Given the description of an element on the screen output the (x, y) to click on. 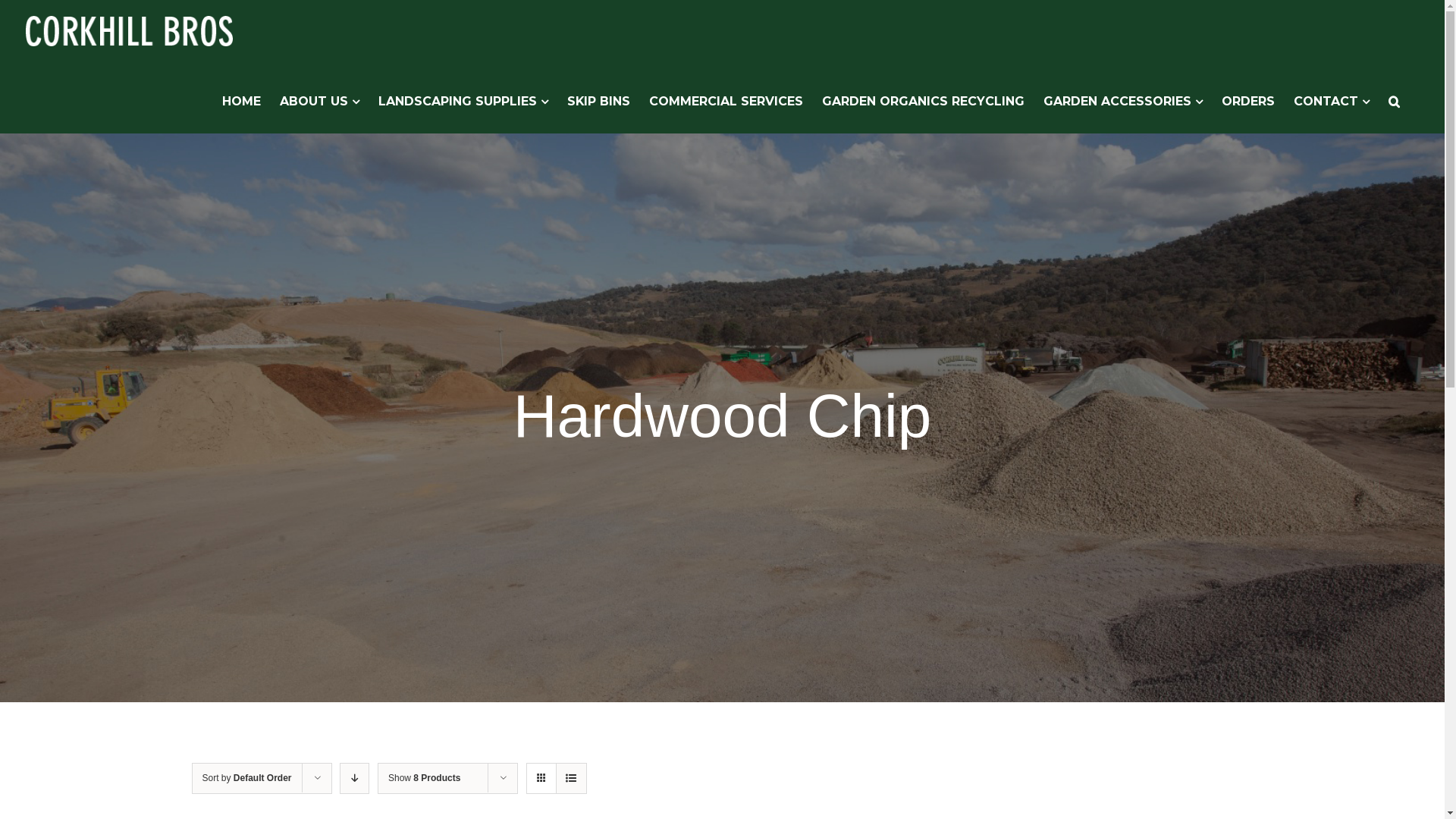
ABOUT US Element type: text (319, 101)
GARDEN ACCESSORIES Element type: text (1122, 101)
GARDEN ORGANICS RECYCLING Element type: text (923, 101)
LANDSCAPING SUPPLIES Element type: text (463, 101)
ORDERS Element type: text (1247, 101)
Search Element type: hover (1393, 101)
Show 8 Products Element type: text (424, 777)
Sort by Default Order Element type: text (246, 777)
SKIP BINS Element type: text (598, 101)
CONTACT Element type: text (1331, 101)
HOME Element type: text (241, 101)
COMMERCIAL SERVICES Element type: text (726, 101)
